Given the description of an element on the screen output the (x, y) to click on. 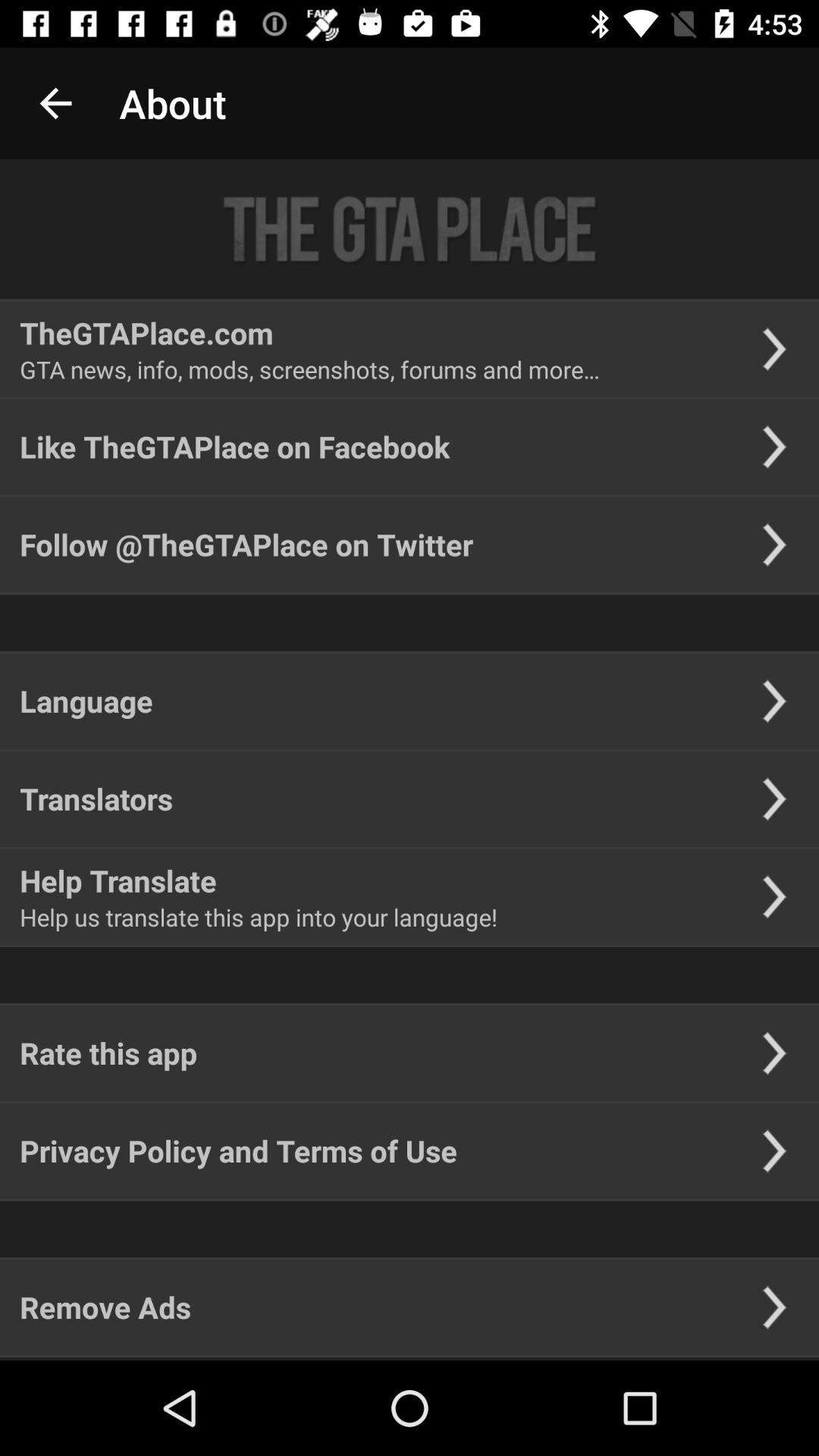
open icon next to the about item (55, 103)
